Given the description of an element on the screen output the (x, y) to click on. 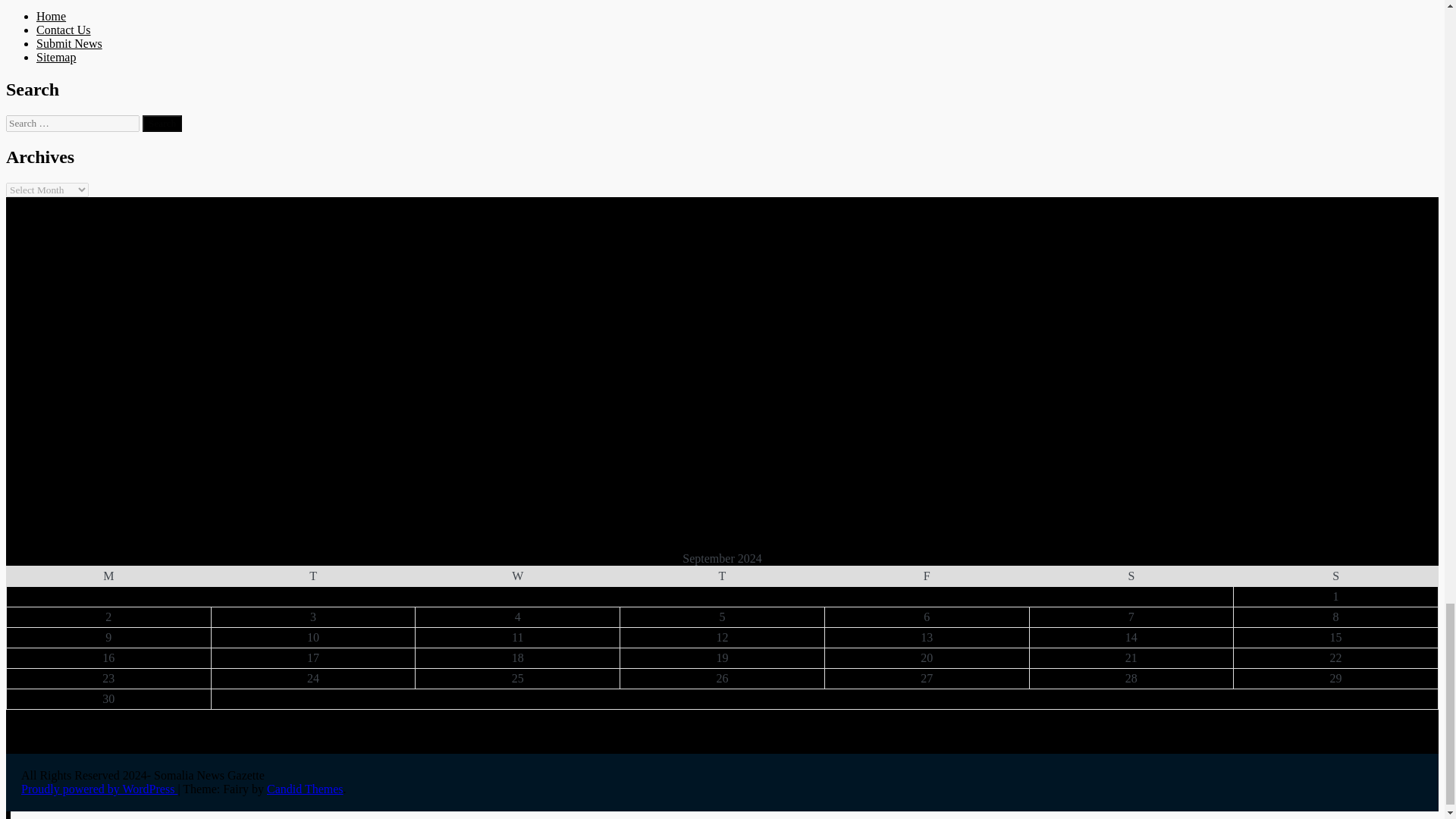
Monday (108, 576)
Search (162, 123)
Wednesday (517, 576)
Home (50, 15)
Search (162, 123)
Thursday (722, 576)
Tuesday (312, 576)
